Given the description of an element on the screen output the (x, y) to click on. 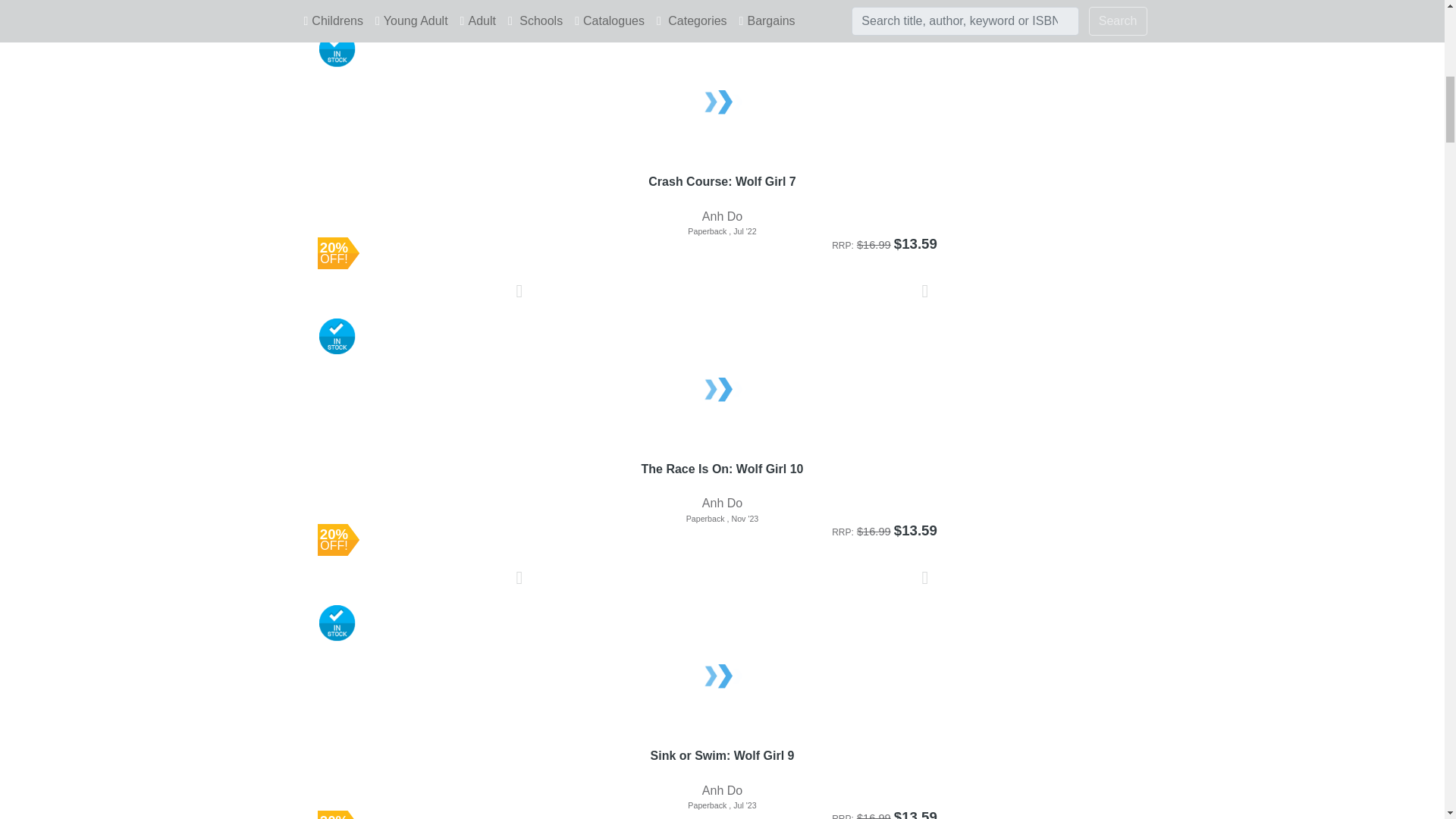
Anh Do (722, 216)
The Race Is On: Wolf Girl 10 (722, 391)
Anh Do (722, 502)
View other books by author Anh Do (721, 215)
The Race Is On: Wolf Girl 10 (722, 477)
View other books by author Anh Do (721, 502)
Paperback (722, 518)
Crash Course: Wolf Girl 7 (722, 190)
Crash Course: Wolf Girl 7 (722, 103)
